Given the description of an element on the screen output the (x, y) to click on. 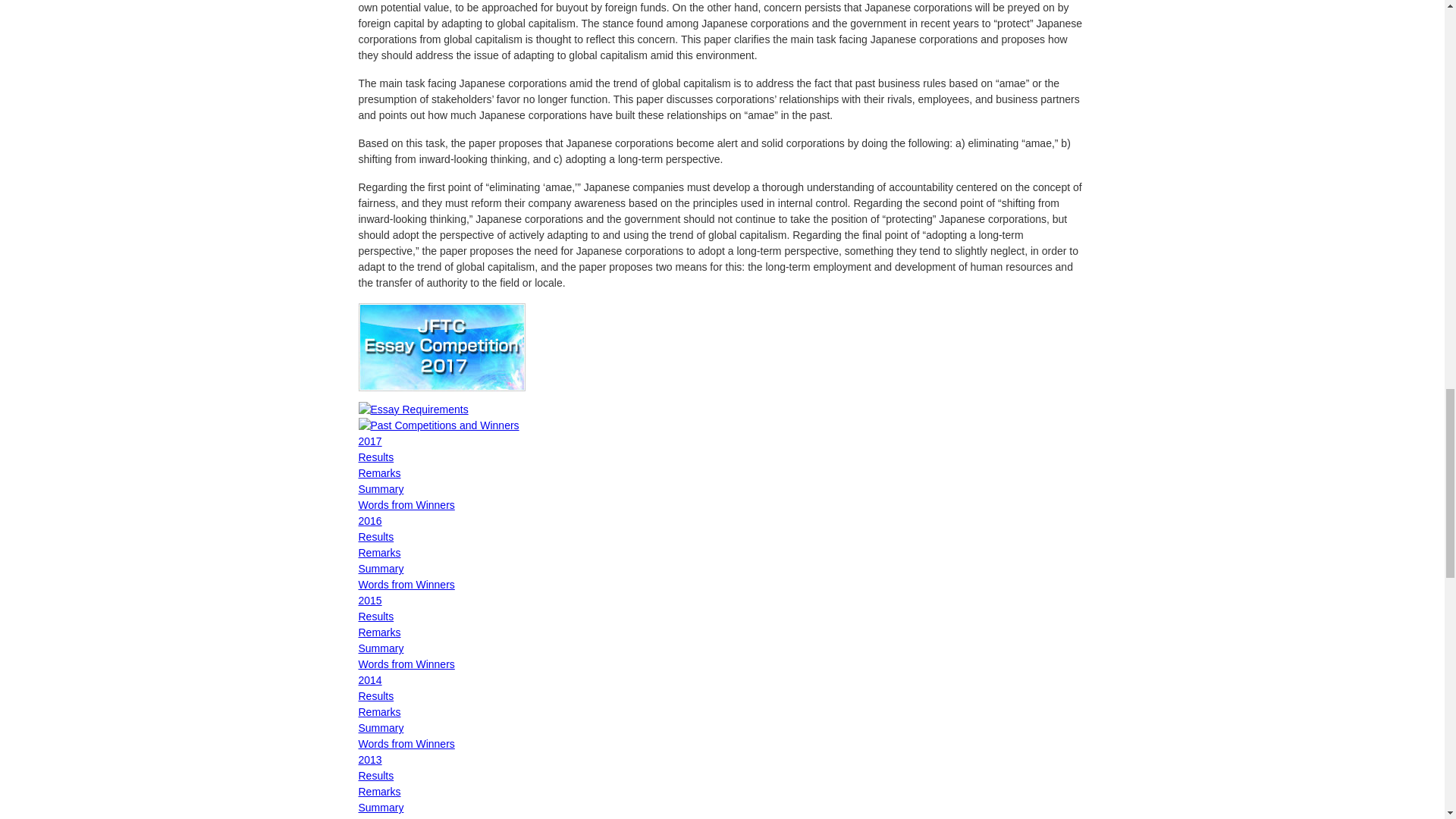
2017 (369, 440)
Results (375, 457)
Words from Winners (406, 504)
Remarks (379, 472)
Summary (380, 489)
